Given the description of an element on the screen output the (x, y) to click on. 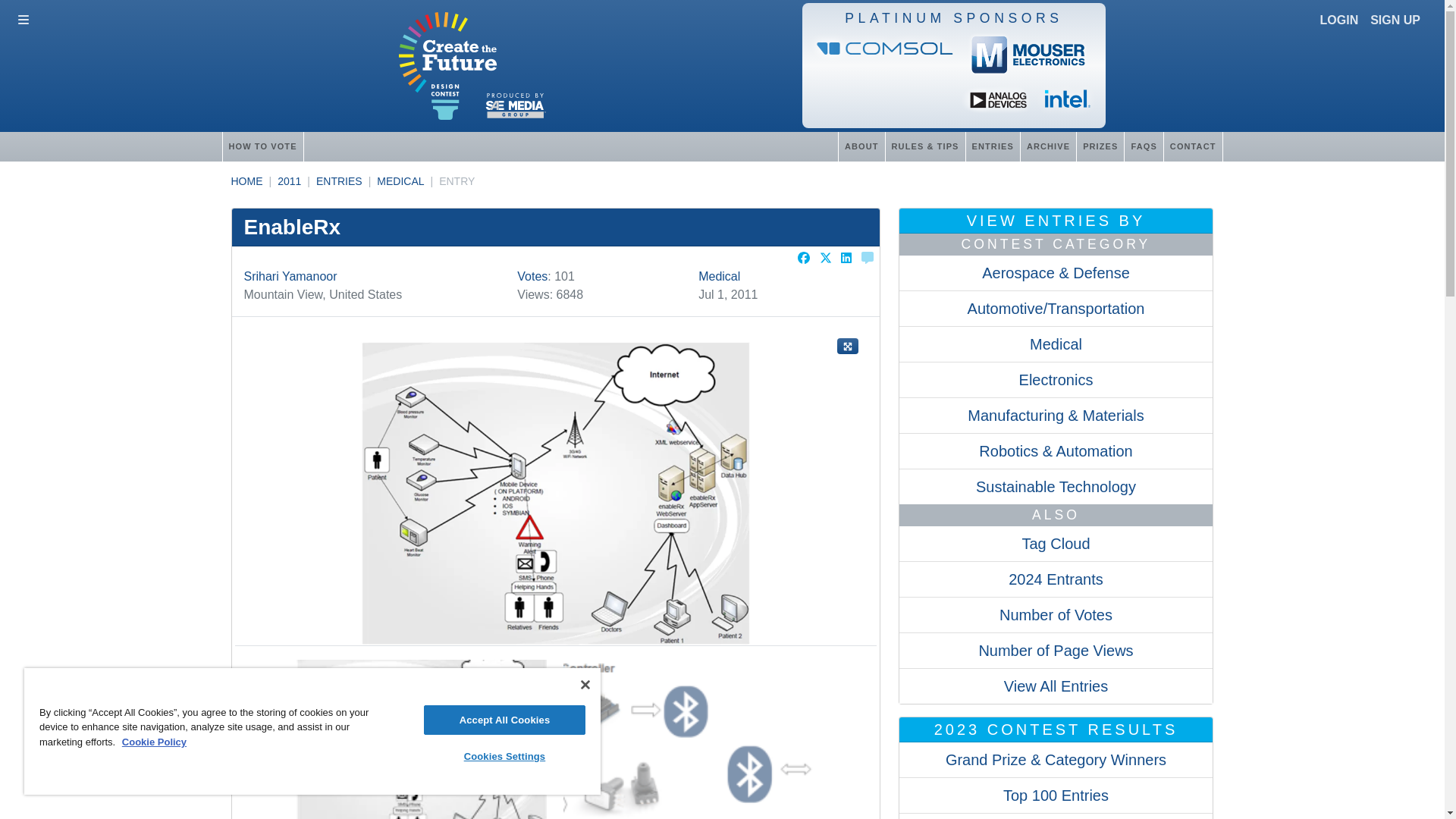
ARCHIVE (1047, 146)
LOGIN (1339, 20)
ENTRIES (338, 181)
HOW TO VOTE (261, 146)
CONTACT (1193, 146)
2011 (289, 181)
Srihari Yamanoor (290, 276)
PRIZES (1099, 146)
Medical (718, 276)
SIGN UP (1395, 20)
FAQS (1142, 146)
Votes (531, 276)
ABOUT (861, 146)
MEDICAL (400, 181)
ENTRIES (992, 146)
